Given the description of an element on the screen output the (x, y) to click on. 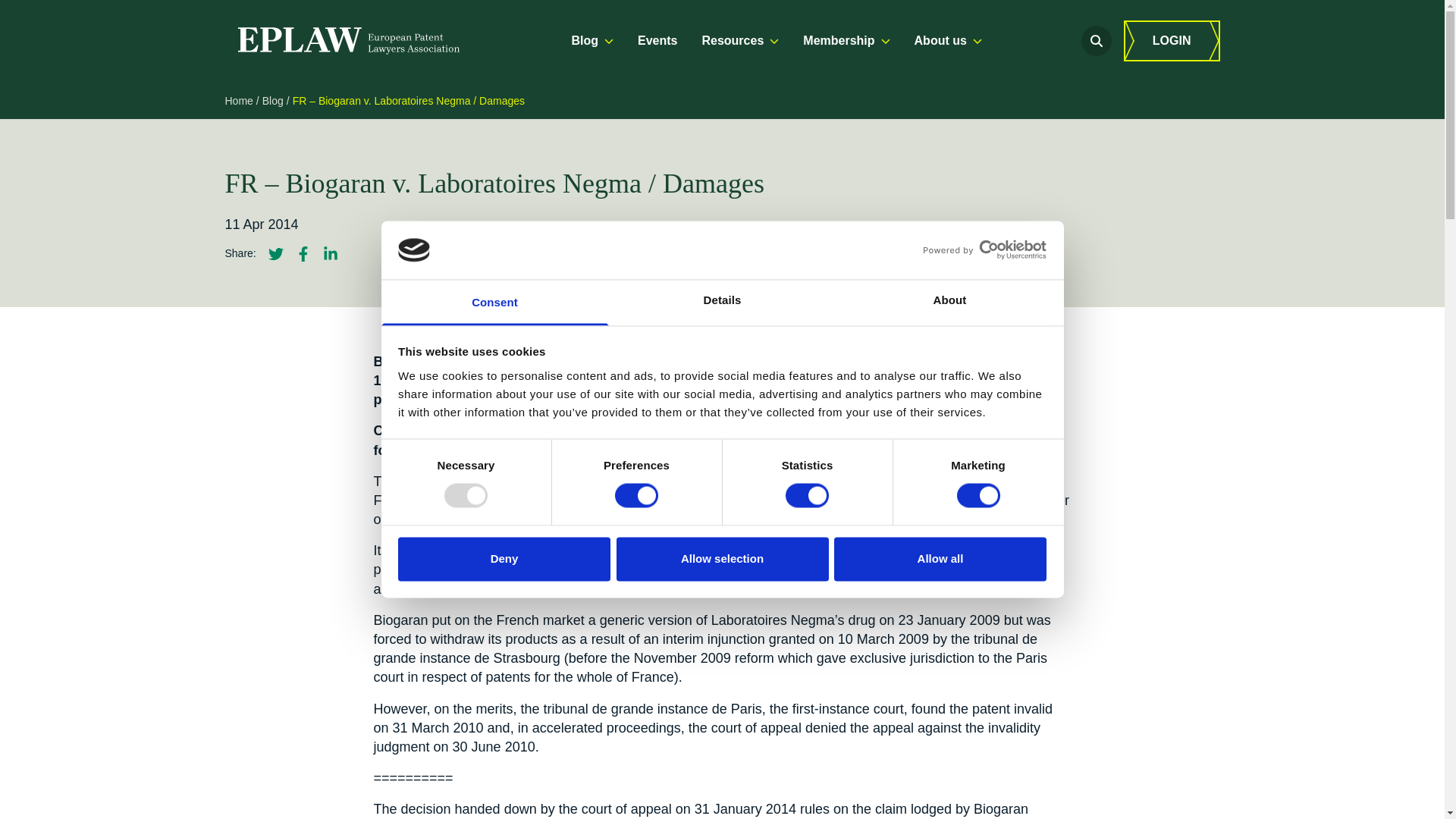
Consent (494, 302)
EPLAW (347, 40)
Allow all (940, 558)
Details (721, 302)
About (948, 302)
Deny (503, 558)
Open search form (1096, 40)
Resources (739, 41)
Allow selection (721, 558)
